Given the description of an element on the screen output the (x, y) to click on. 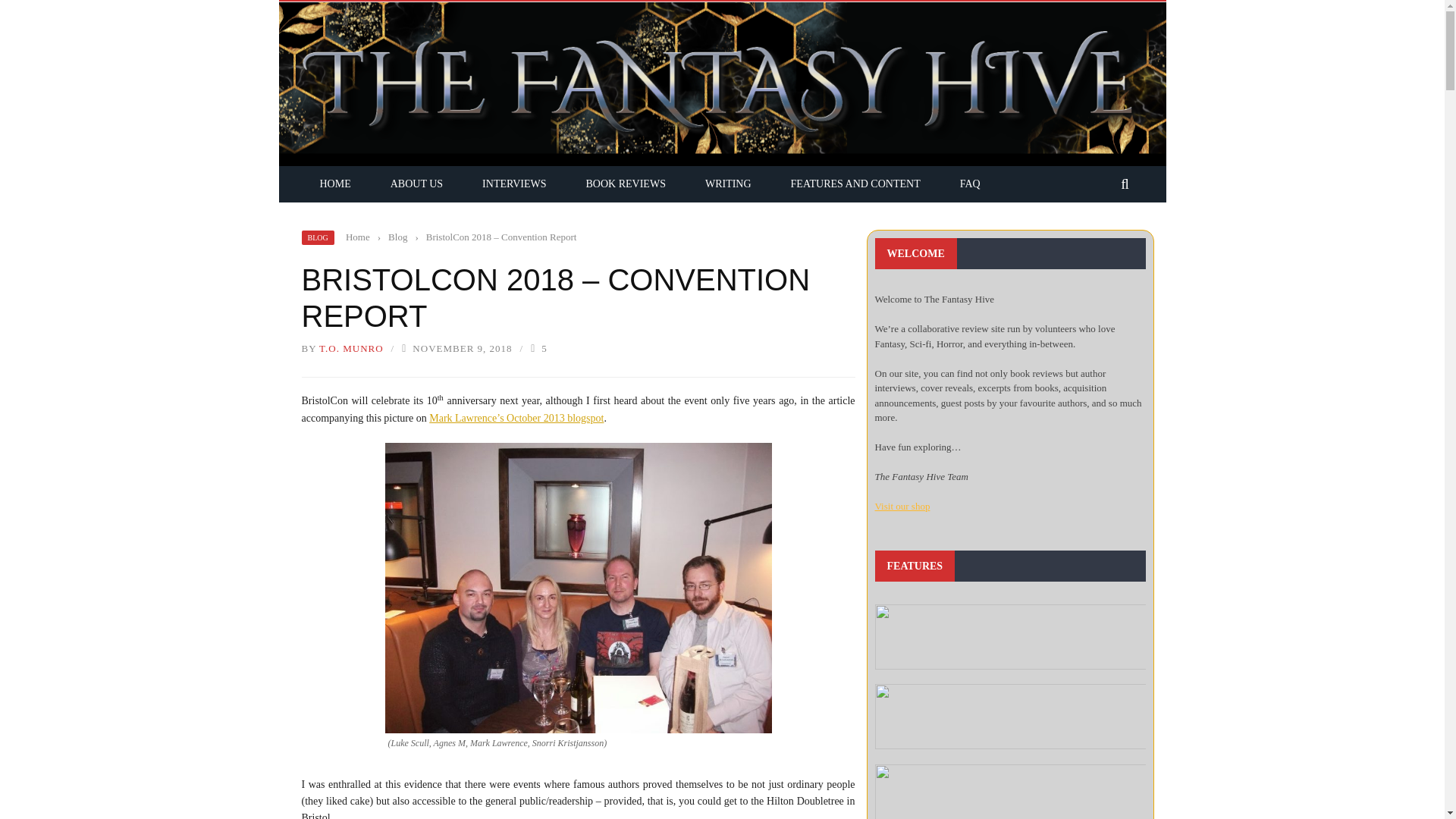
HOME (335, 183)
BOOK REVIEWS (625, 183)
INTERVIEWS (514, 183)
ABOUT US (416, 183)
